Given the description of an element on the screen output the (x, y) to click on. 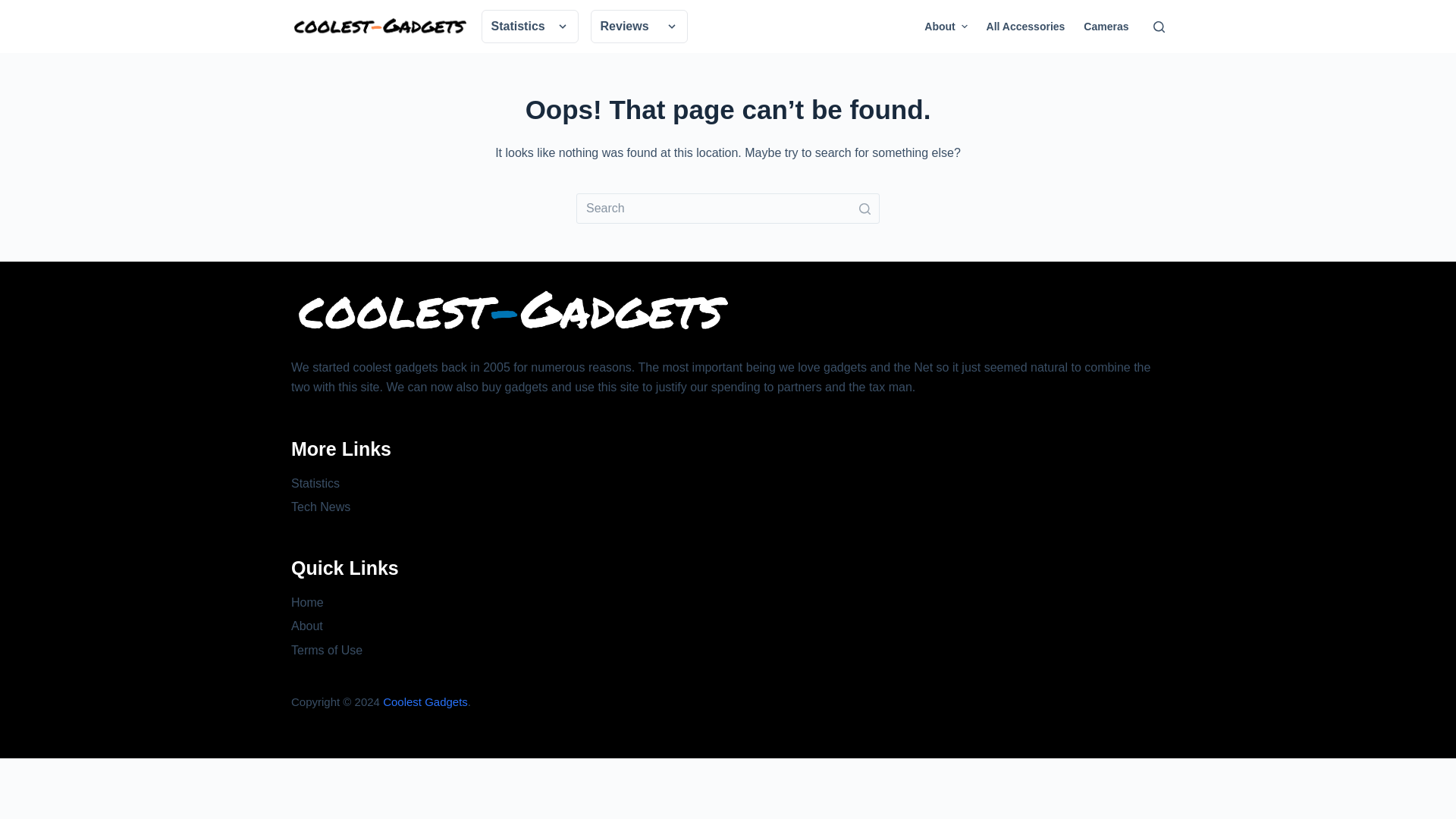
Search Input (727, 208)
Reviews (639, 26)
Statistics (529, 26)
Skip to content (15, 7)
